Given the description of an element on the screen output the (x, y) to click on. 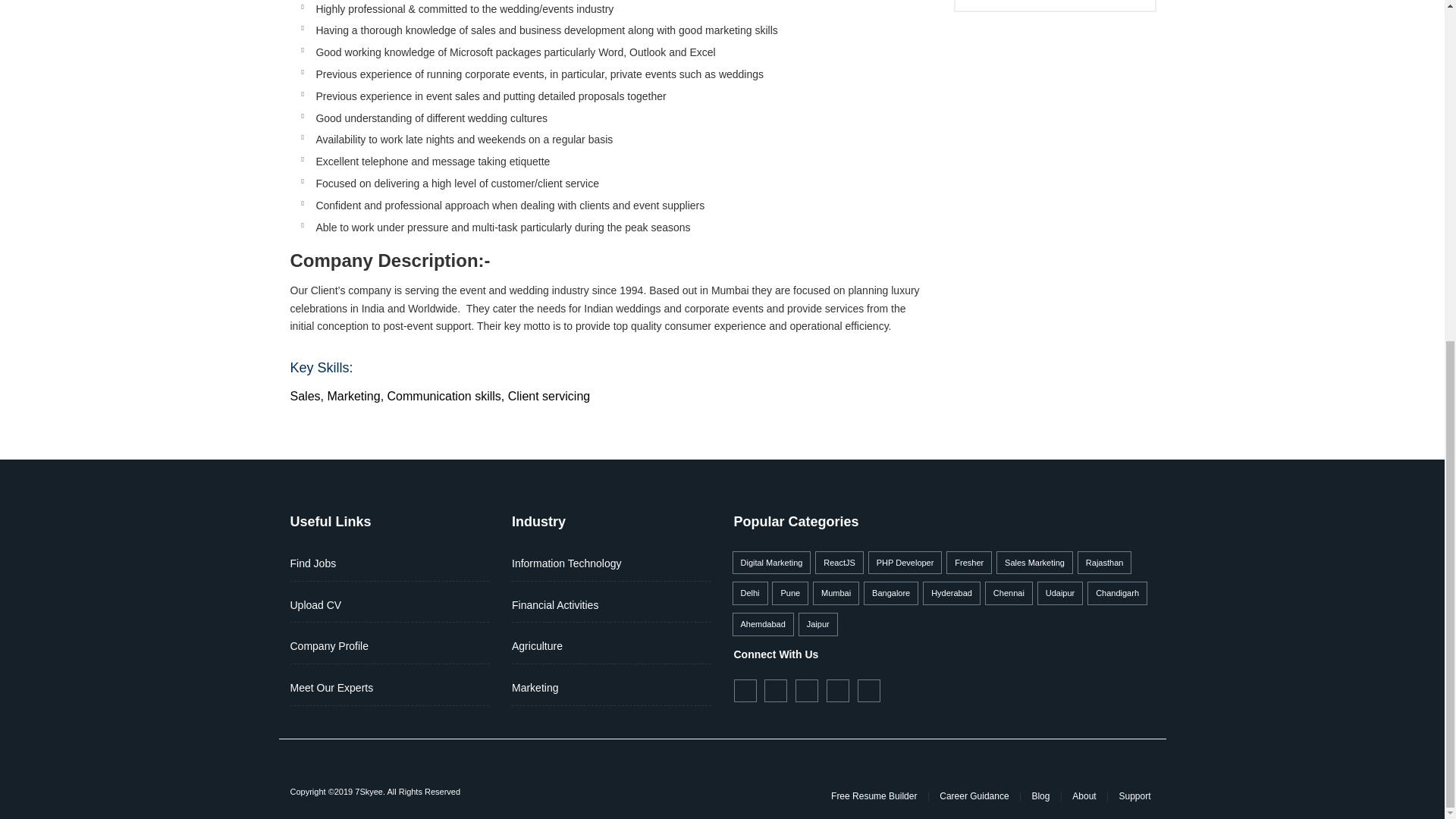
Chennai (1008, 593)
Bangalore (890, 593)
Rajasthan Jobs (1104, 562)
Fresher (968, 562)
PHP Developer (904, 562)
Bangalore Jobs (890, 593)
Delhi Jobs (750, 593)
Financial Activities (555, 604)
Sales Marketing (1034, 562)
Fresher Jobs (968, 562)
Hyderabad Jobs (951, 593)
Sales Marketing Jobs (1034, 562)
Udaipur Jobs (1059, 593)
Mumbai (835, 593)
